Given the description of an element on the screen output the (x, y) to click on. 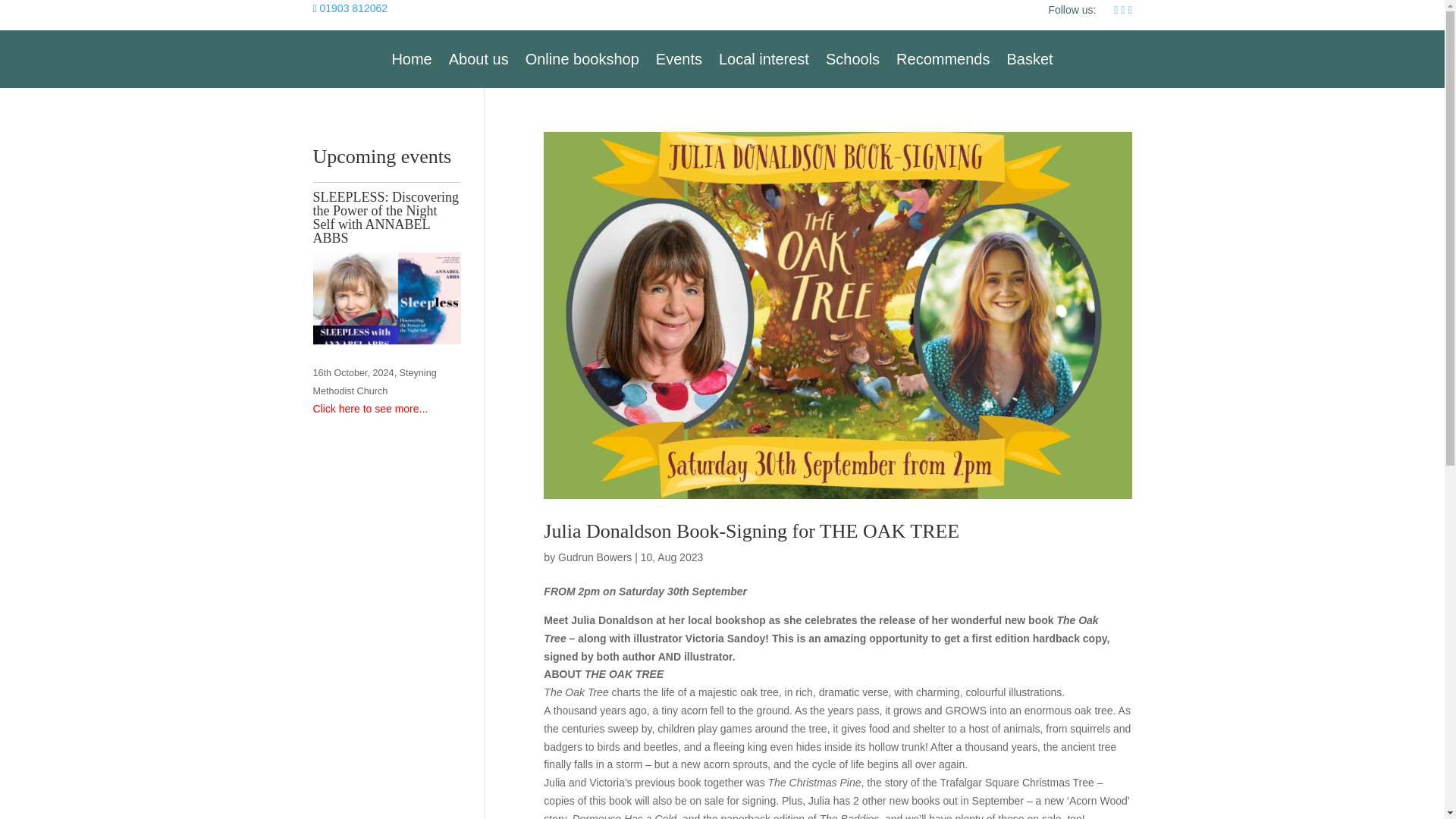
Julia Donaldson Book-Signing for THE OAK TREE (751, 531)
Posts by Gudrun Bowers (594, 557)
Local interest (764, 58)
Click here to see more... (370, 408)
Online bookshop (582, 58)
About us (478, 58)
Gudrun Bowers (594, 557)
Schools (852, 58)
Recommends (943, 58)
01903 812062 (354, 8)
